Given the description of an element on the screen output the (x, y) to click on. 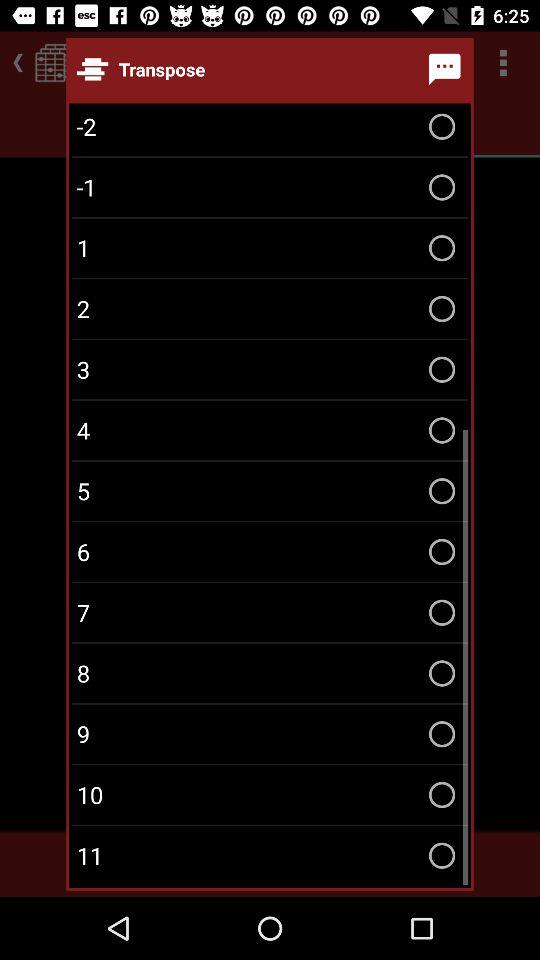
launch the 6 (269, 551)
